Given the description of an element on the screen output the (x, y) to click on. 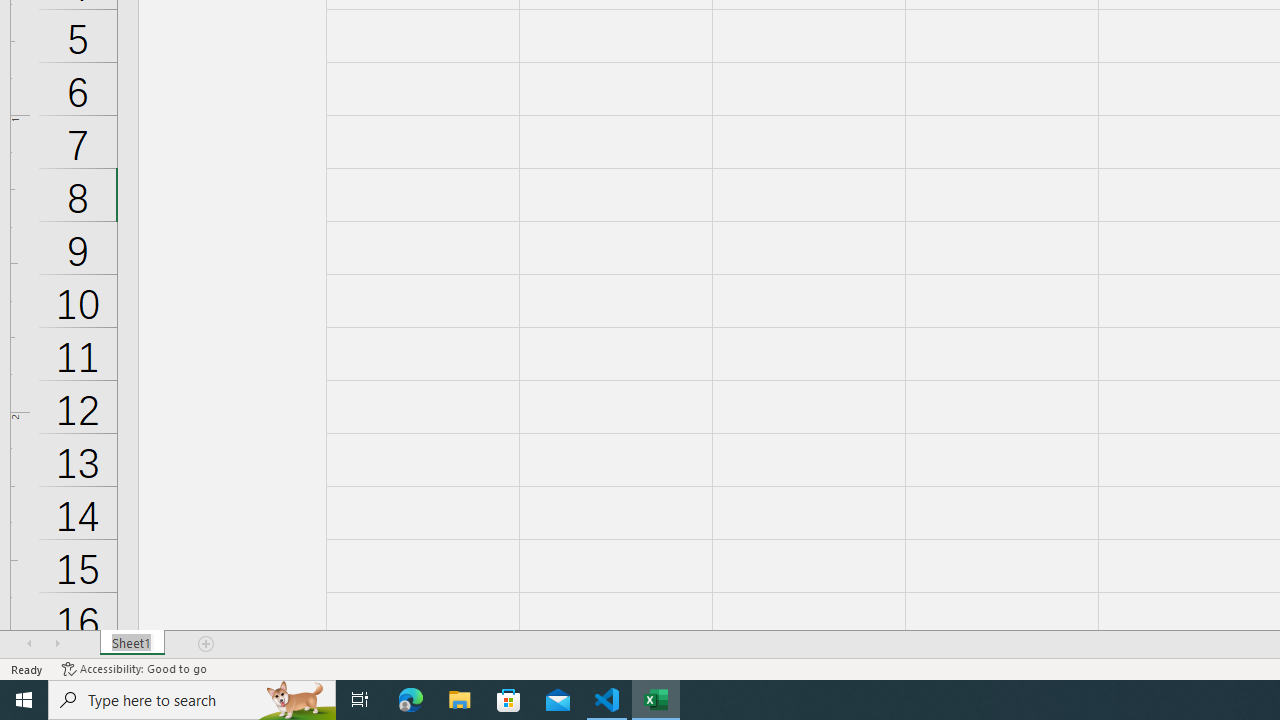
Sheet Tab (132, 644)
